Given the description of an element on the screen output the (x, y) to click on. 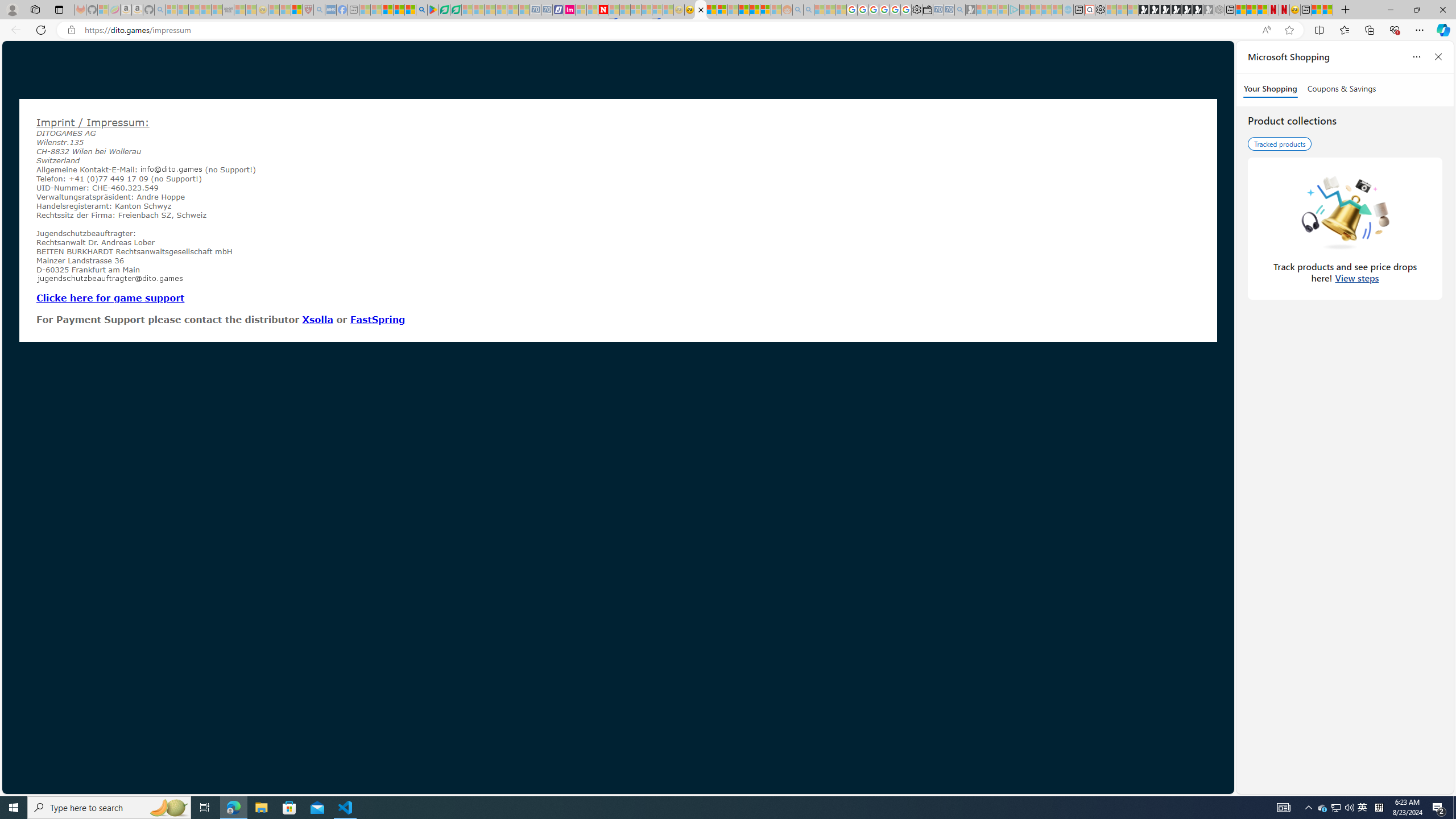
14 Common Myths Debunked By Scientific Facts - Sleeping (624, 9)
DITOGAMES AG Imprint (700, 9)
Cheap Car Rentals - Save70.com - Sleeping (949, 9)
The Weather Channel - MSN - Sleeping (194, 9)
Jobs - lastminute.com Investor Portal (569, 9)
Bing Real Estate - Home sales and rental listings - Sleeping (959, 9)
Wallet (927, 9)
